Given the description of an element on the screen output the (x, y) to click on. 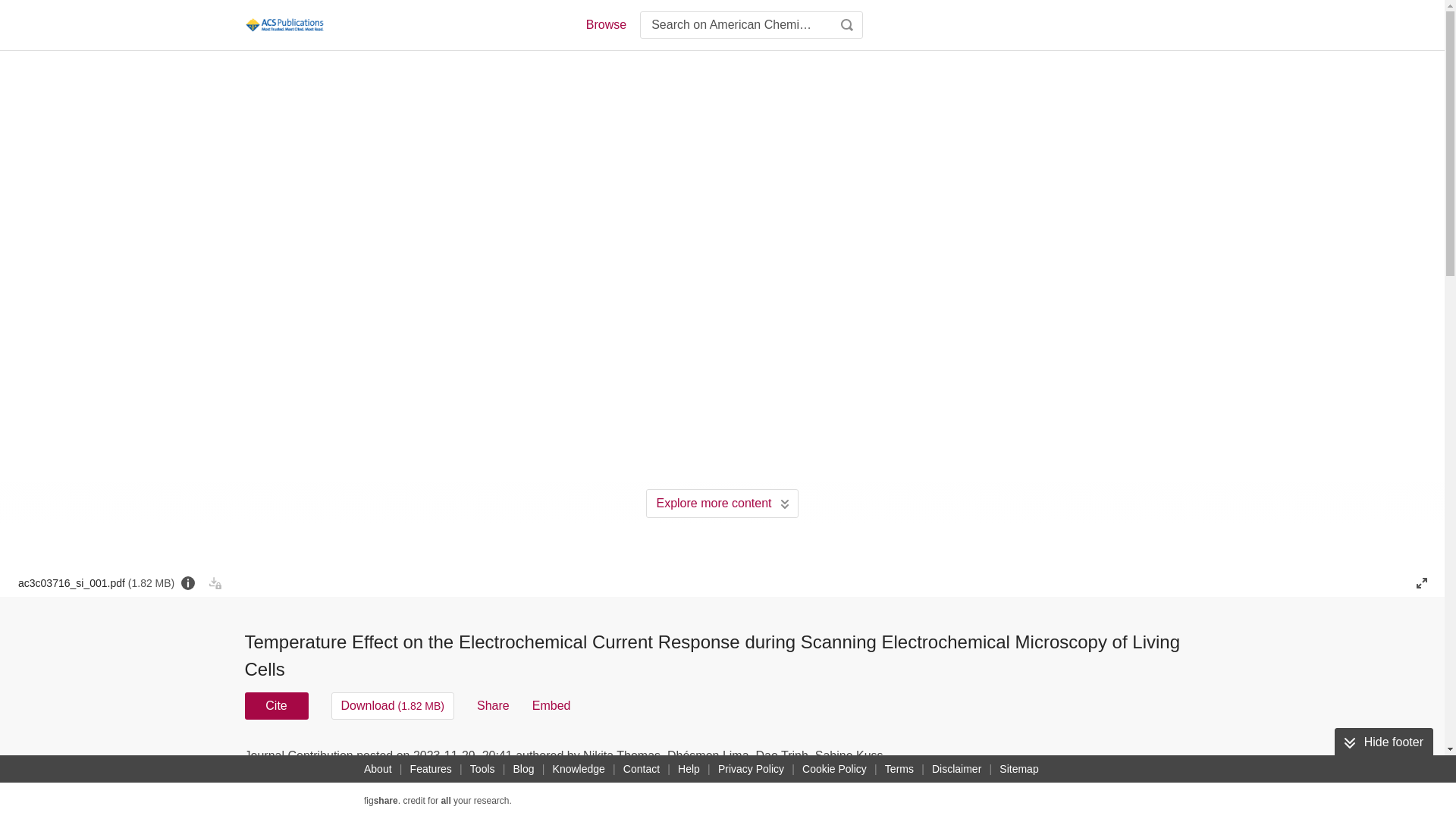
Cite (275, 705)
Share (493, 705)
Explore more content (721, 502)
USAGE METRICS (976, 759)
Browse (605, 24)
Embed (551, 705)
